Given the description of an element on the screen output the (x, y) to click on. 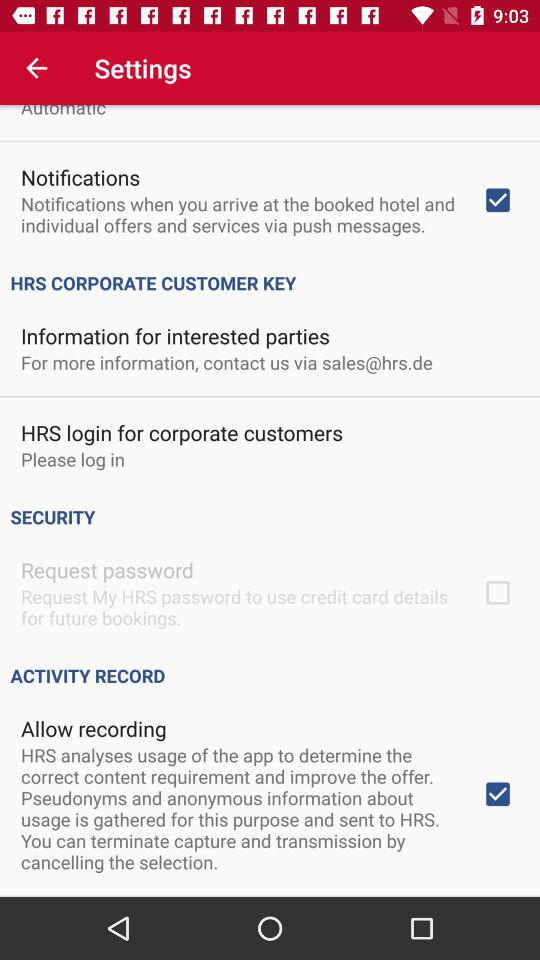
go back (36, 68)
